Given the description of an element on the screen output the (x, y) to click on. 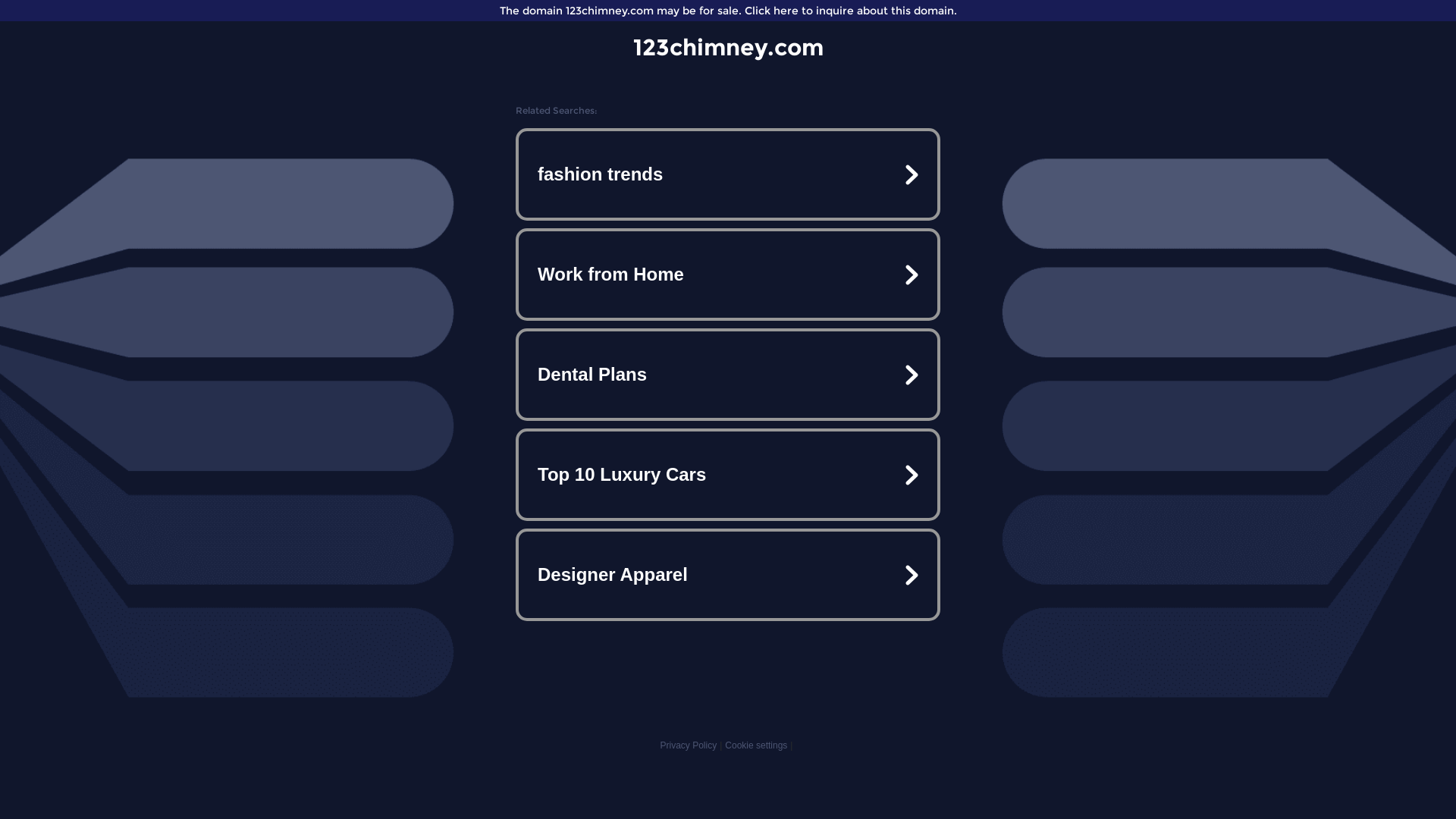
fashion trends Element type: text (727, 174)
123chimney.com Element type: text (727, 47)
Privacy Policy Element type: text (687, 745)
Work from Home Element type: text (727, 274)
Top 10 Luxury Cars Element type: text (727, 474)
Cookie settings Element type: text (755, 745)
Designer Apparel Element type: text (727, 574)
Dental Plans Element type: text (727, 374)
